Given the description of an element on the screen output the (x, y) to click on. 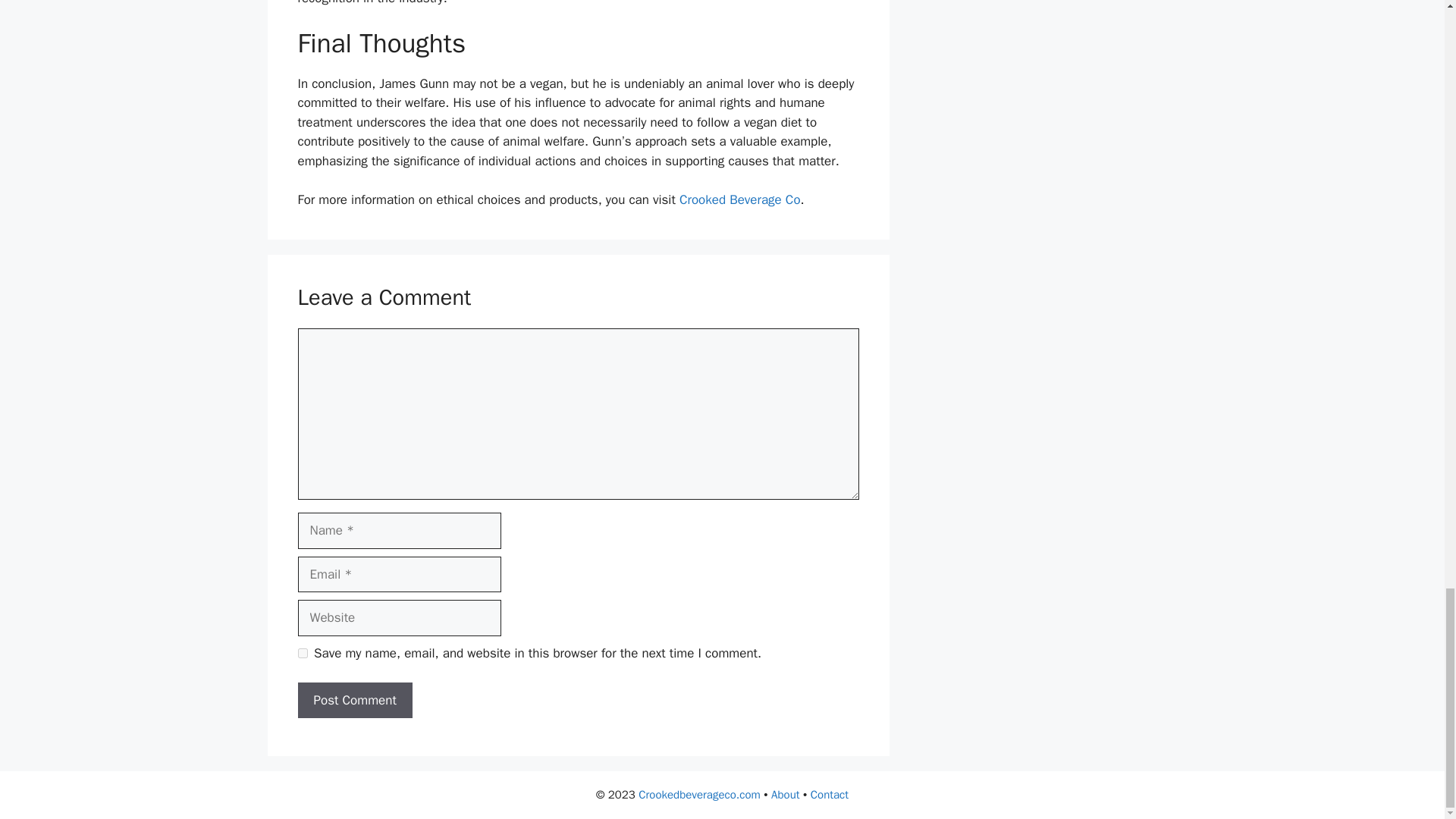
Crookedbeverageco.com (699, 794)
Crooked Beverage Co (739, 199)
Contact (829, 794)
Post Comment (354, 700)
About (785, 794)
Post Comment (354, 700)
yes (302, 653)
